Given the description of an element on the screen output the (x, y) to click on. 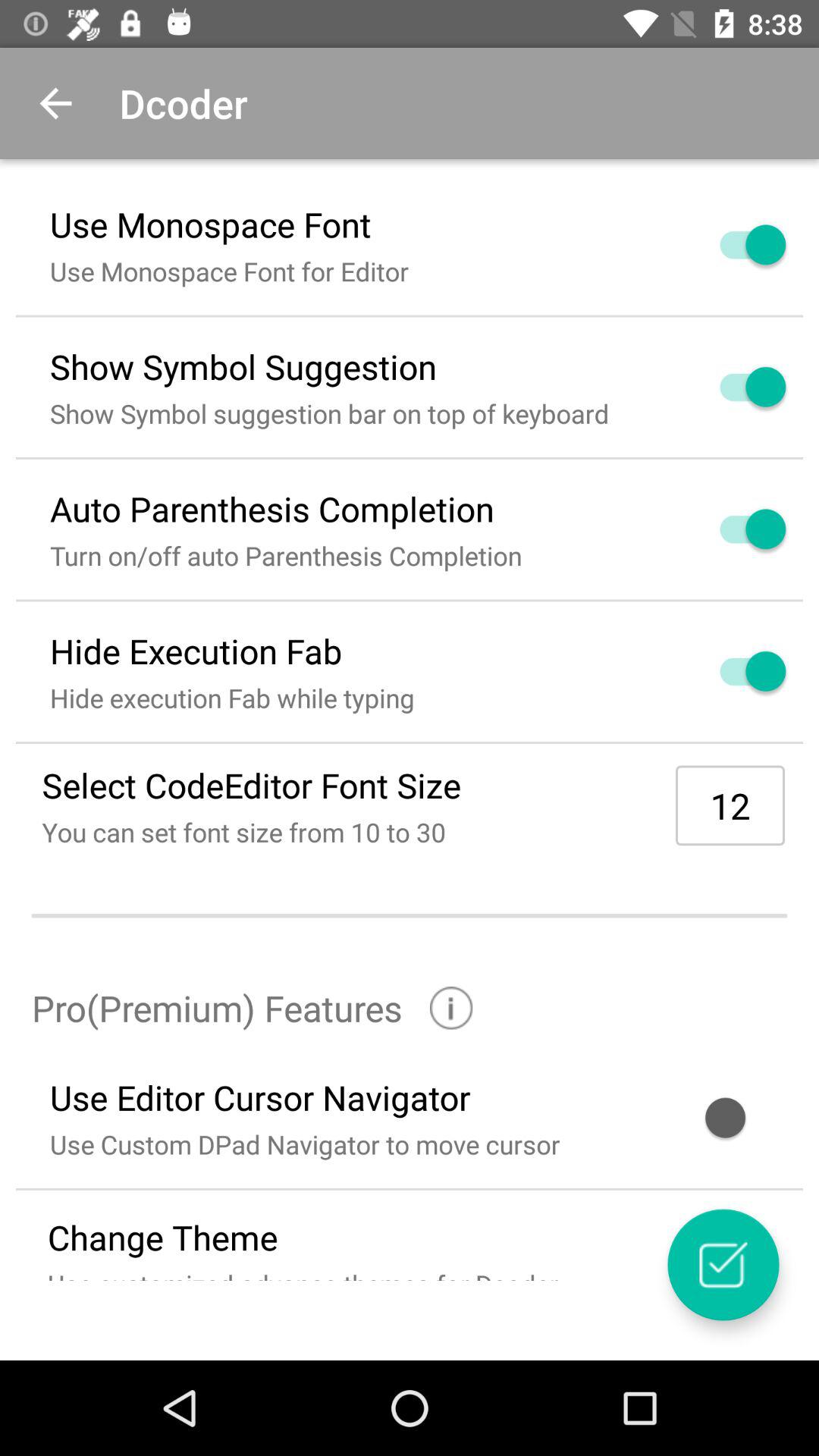
open the icon next to use monospace font icon (734, 244)
